Given the description of an element on the screen output the (x, y) to click on. 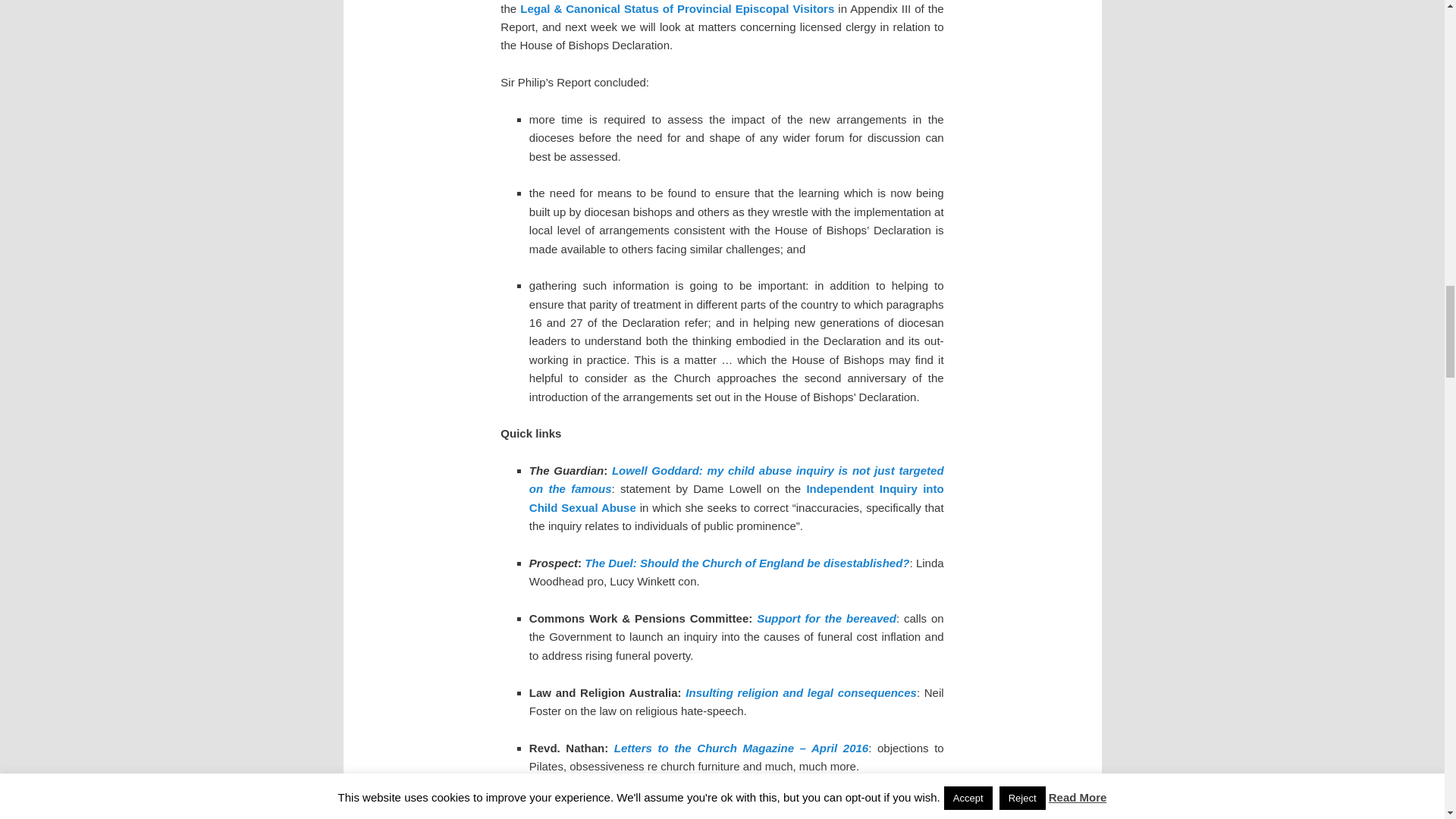
Support for the bereaved (826, 617)
Independent Inquiry into Child Sexual Abuse (736, 497)
The Duel: Should the Church of England be disestablished? (746, 562)
Insulting religion and legal consequences (801, 692)
